Given the description of an element on the screen output the (x, y) to click on. 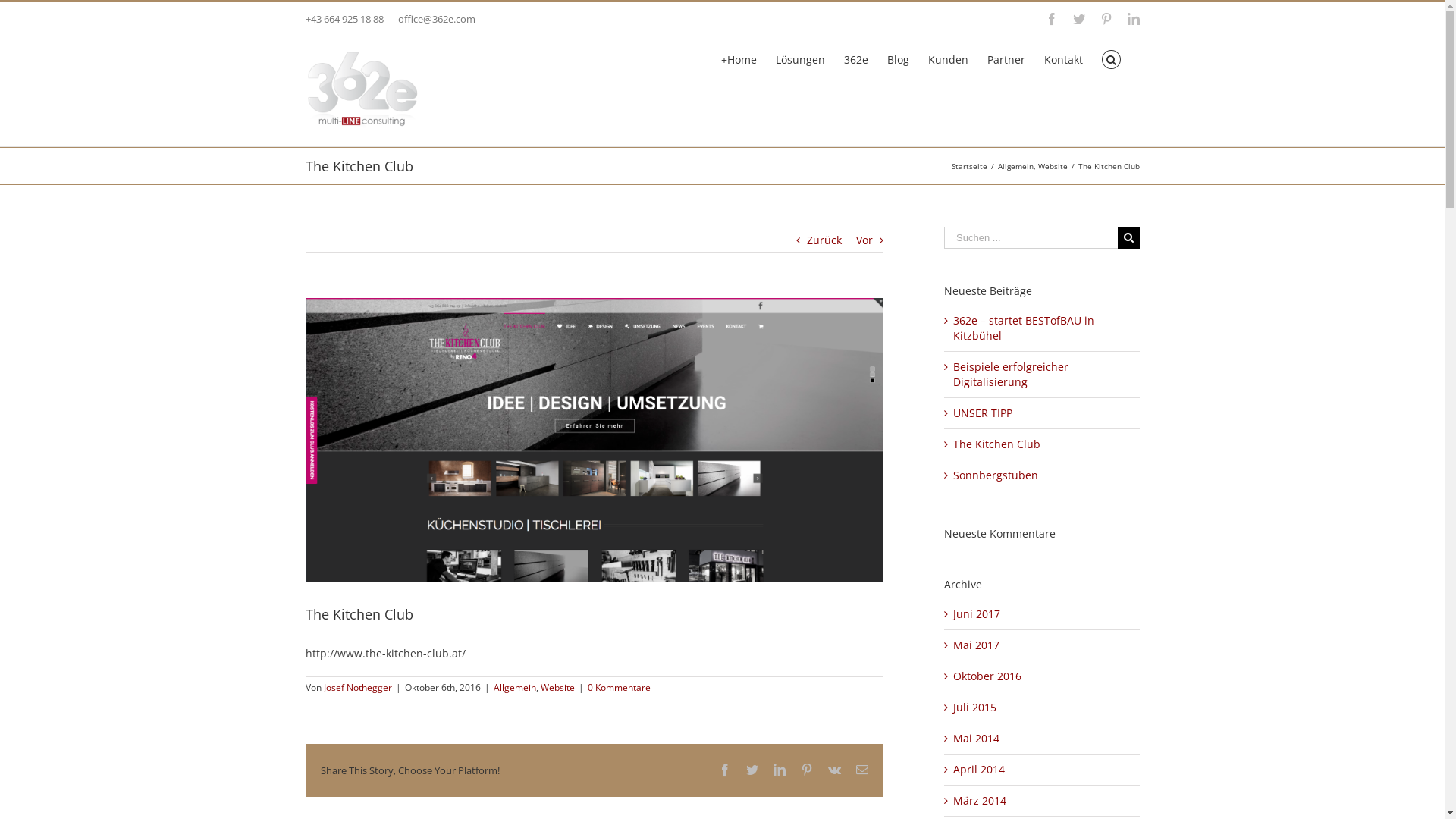
Suche Element type: hover (1110, 58)
Juli 2015 Element type: text (974, 706)
LinkedIn Element type: text (1132, 18)
Website Element type: text (556, 686)
Vor Element type: text (864, 240)
Facebook Element type: text (724, 769)
362e Element type: text (856, 58)
Facebook Element type: text (1050, 18)
Pinterest Element type: text (806, 769)
0 Kommentare Element type: text (617, 686)
Kontakt Element type: text (1063, 58)
The Kitchen Club Element type: text (996, 443)
Kunden Element type: text (948, 58)
LinkedIn Element type: text (779, 769)
Sonnbergstuben Element type: text (995, 474)
Vk Element type: text (834, 769)
Allgemein Element type: text (513, 686)
UNSER TIPP Element type: text (982, 412)
April 2014 Element type: text (978, 769)
Mai 2014 Element type: text (976, 738)
Startseite Element type: text (968, 165)
Allgemein Element type: text (1015, 165)
Juni 2017 Element type: text (976, 613)
Website Element type: text (1051, 165)
Oktober 2016 Element type: text (987, 675)
Pinterest Element type: text (1105, 18)
Blog Element type: text (898, 58)
Partner Element type: text (1006, 58)
Josef Nothegger Element type: text (357, 686)
Twitter Element type: text (1078, 18)
Beispiele erfolgreicher Digitalisierung Element type: text (1010, 374)
Twitter Element type: text (752, 769)
Email Element type: text (862, 769)
Mai 2017 Element type: text (976, 644)
+Home Element type: text (738, 58)
office@362e.com Element type: text (435, 18)
